Given the description of an element on the screen output the (x, y) to click on. 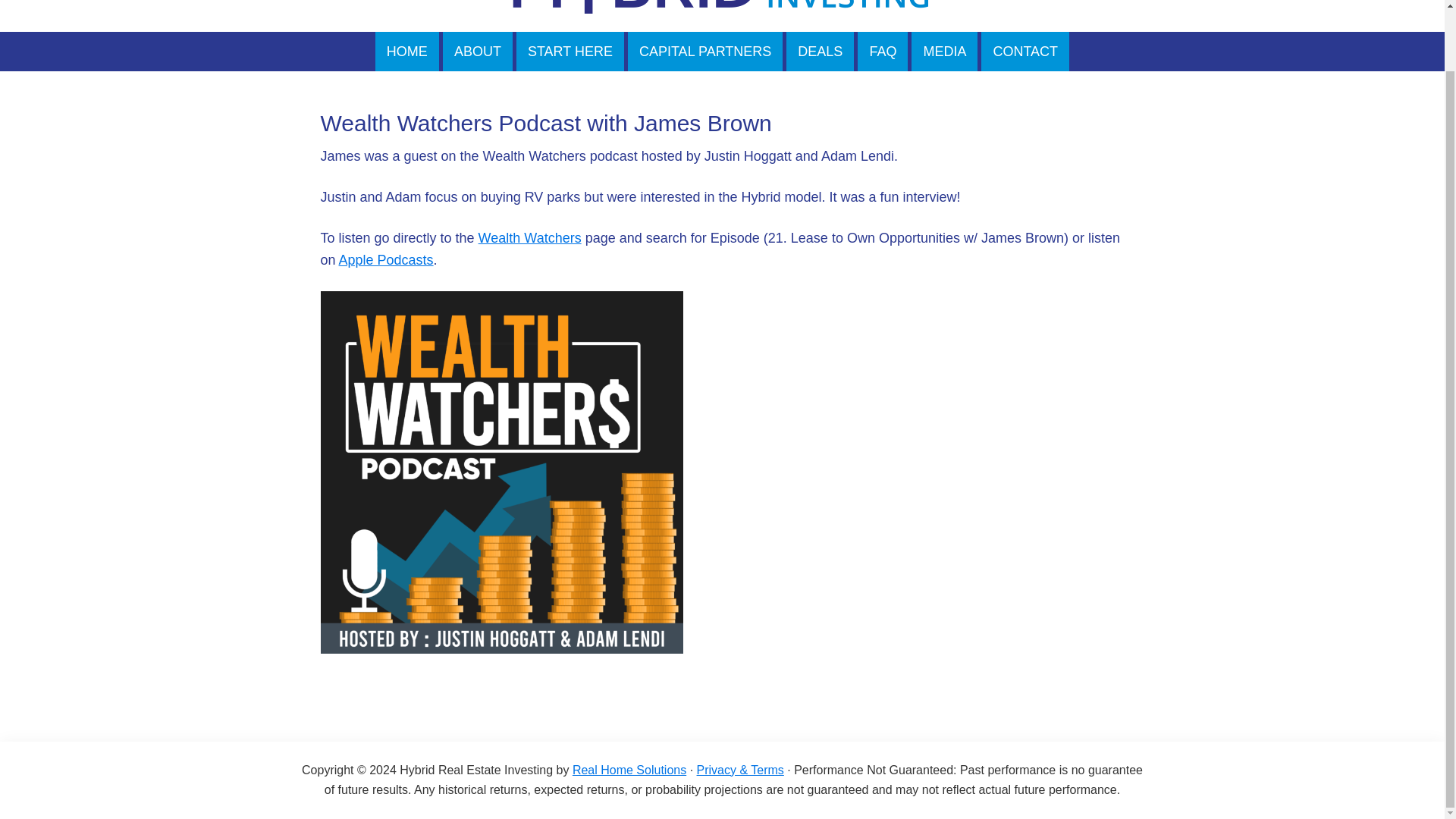
Wealth Watchers (529, 237)
ABOUT (477, 51)
Apple Podcasts (386, 259)
DEALS (819, 51)
FAQ (882, 51)
MEDIA (943, 51)
START HERE (570, 51)
HYBRID REAL ESTATE INVESTING (722, 15)
CONTACT (1024, 51)
CAPITAL PARTNERS (705, 51)
HOME (407, 51)
Real Home Solutions (628, 768)
